Given the description of an element on the screen output the (x, y) to click on. 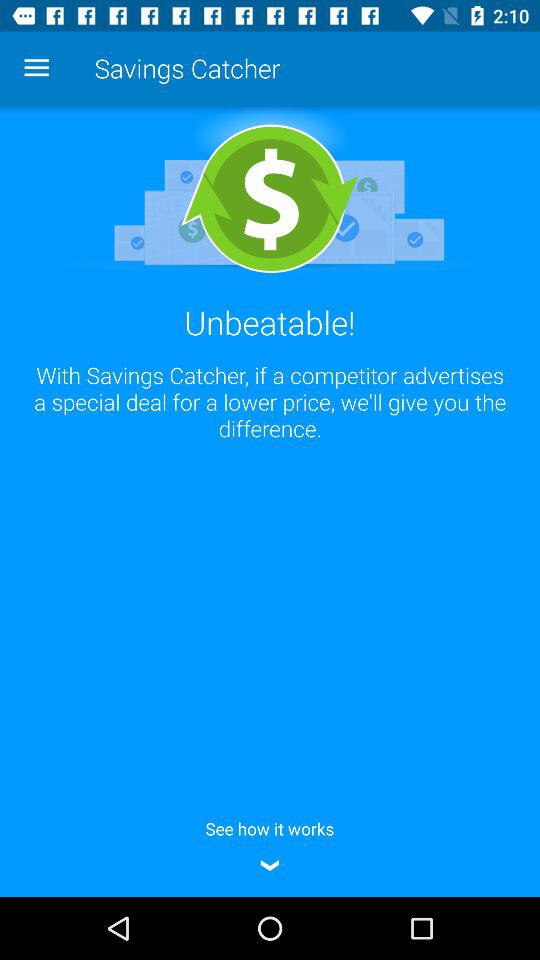
jump until see how it (269, 843)
